Given the description of an element on the screen output the (x, y) to click on. 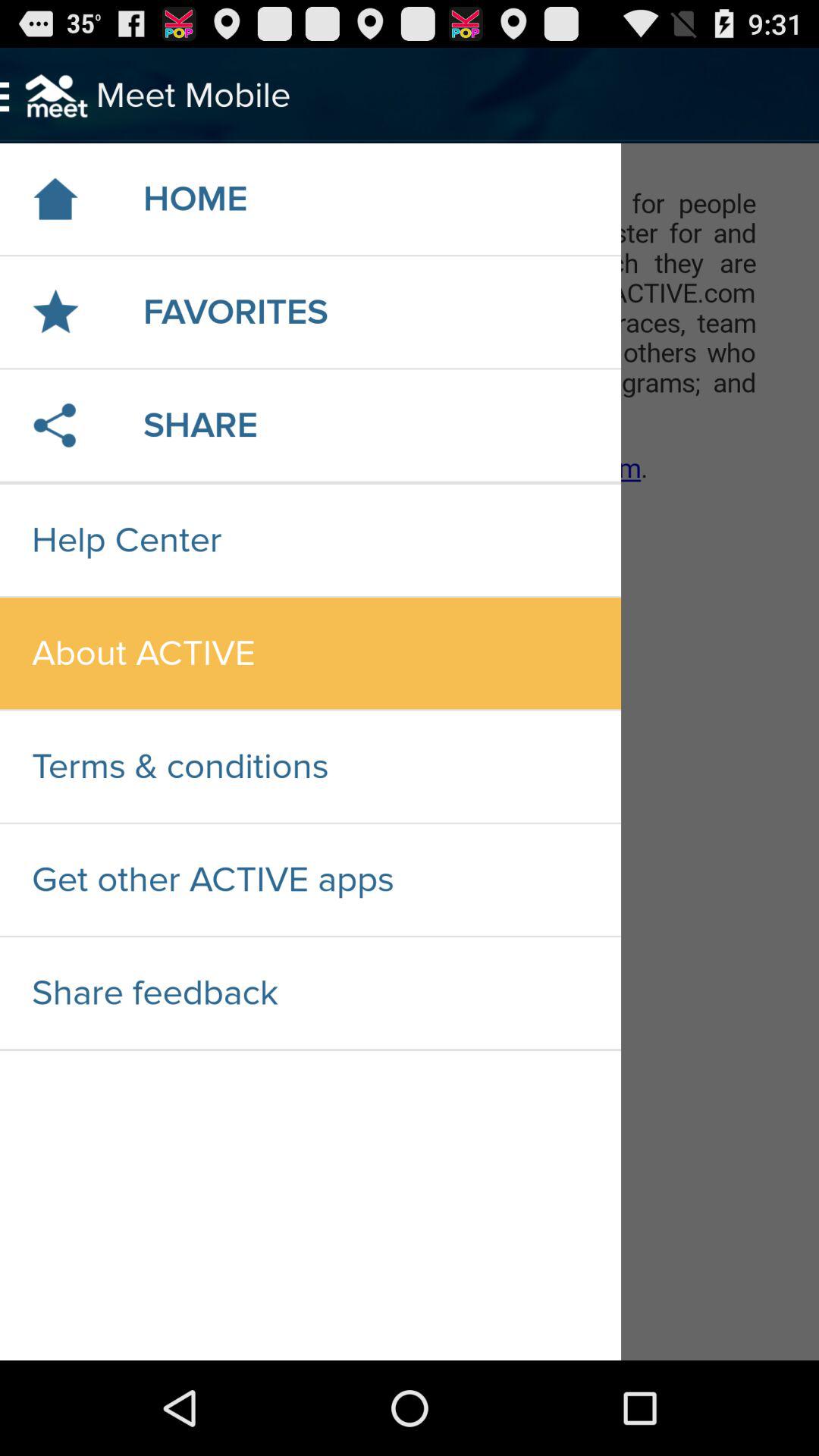
turn on the share feedback icon (310, 992)
